Given the description of an element on the screen output the (x, y) to click on. 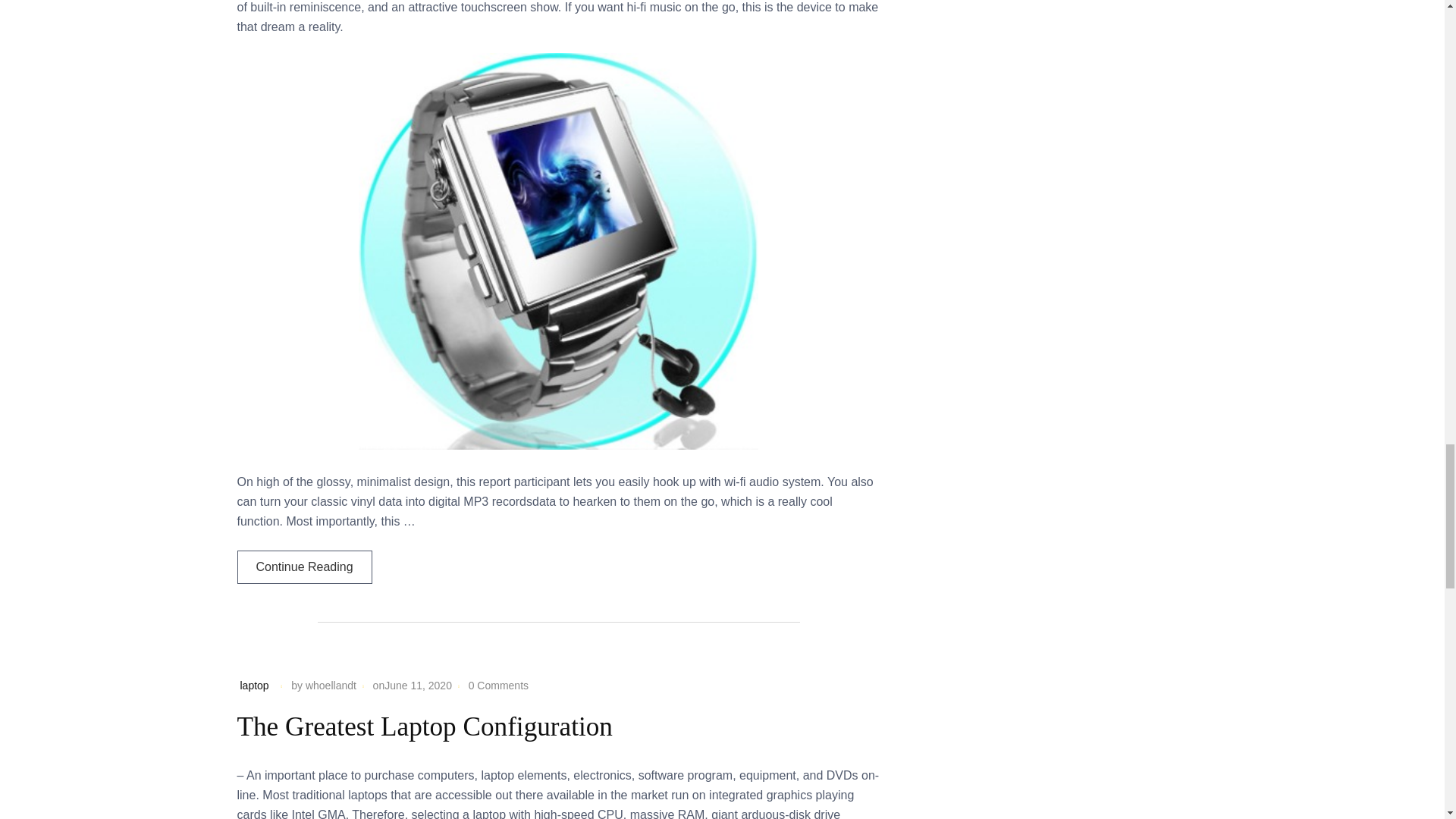
The Greatest Laptop Configuration (423, 726)
